Given the description of an element on the screen output the (x, y) to click on. 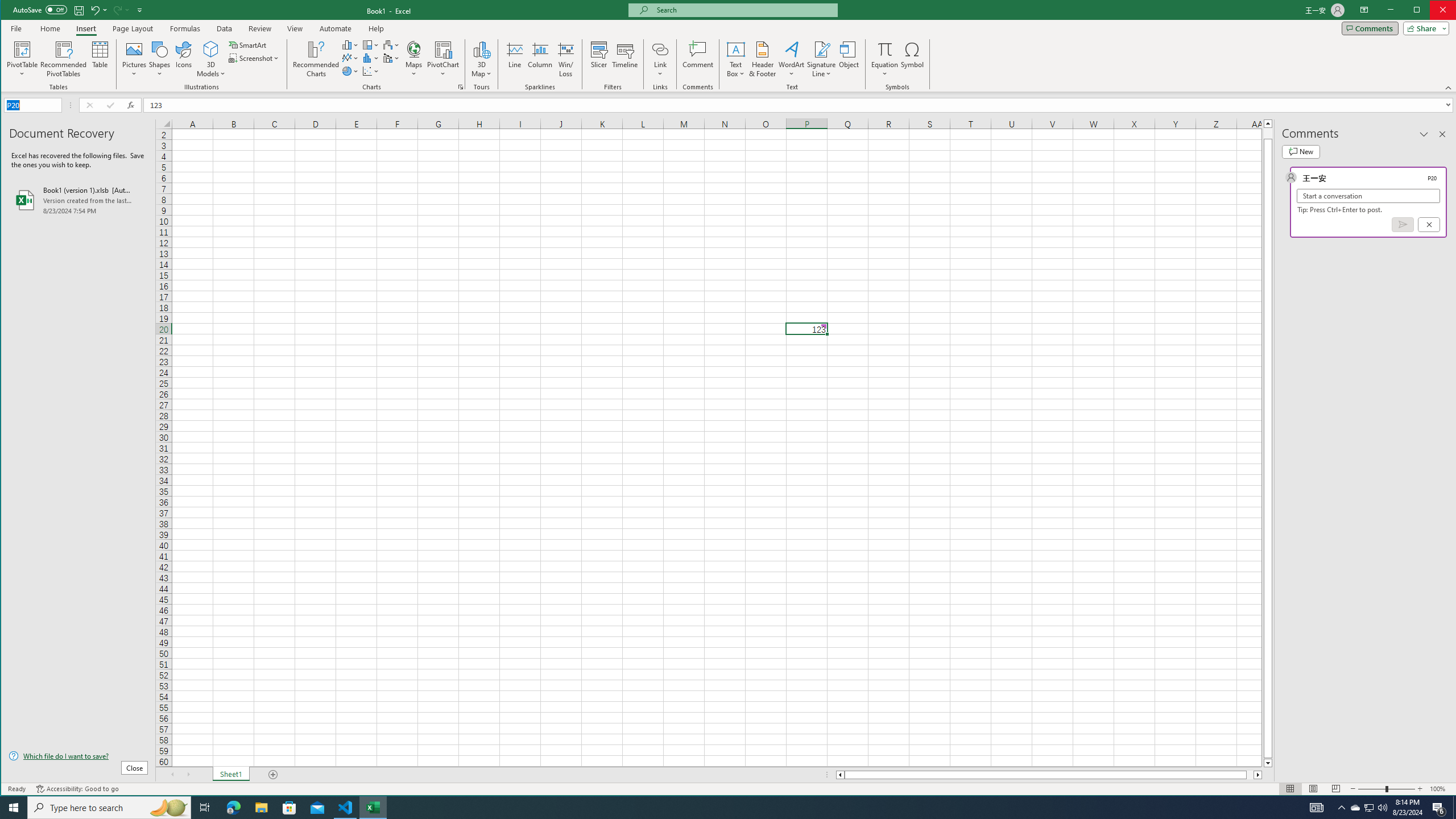
Insert Column or Bar Chart (350, 44)
Symbol... (1355, 807)
Microsoft Store (912, 59)
Insert Waterfall, Funnel, Stock, Surface, or Radar Chart (289, 807)
